Given the description of an element on the screen output the (x, y) to click on. 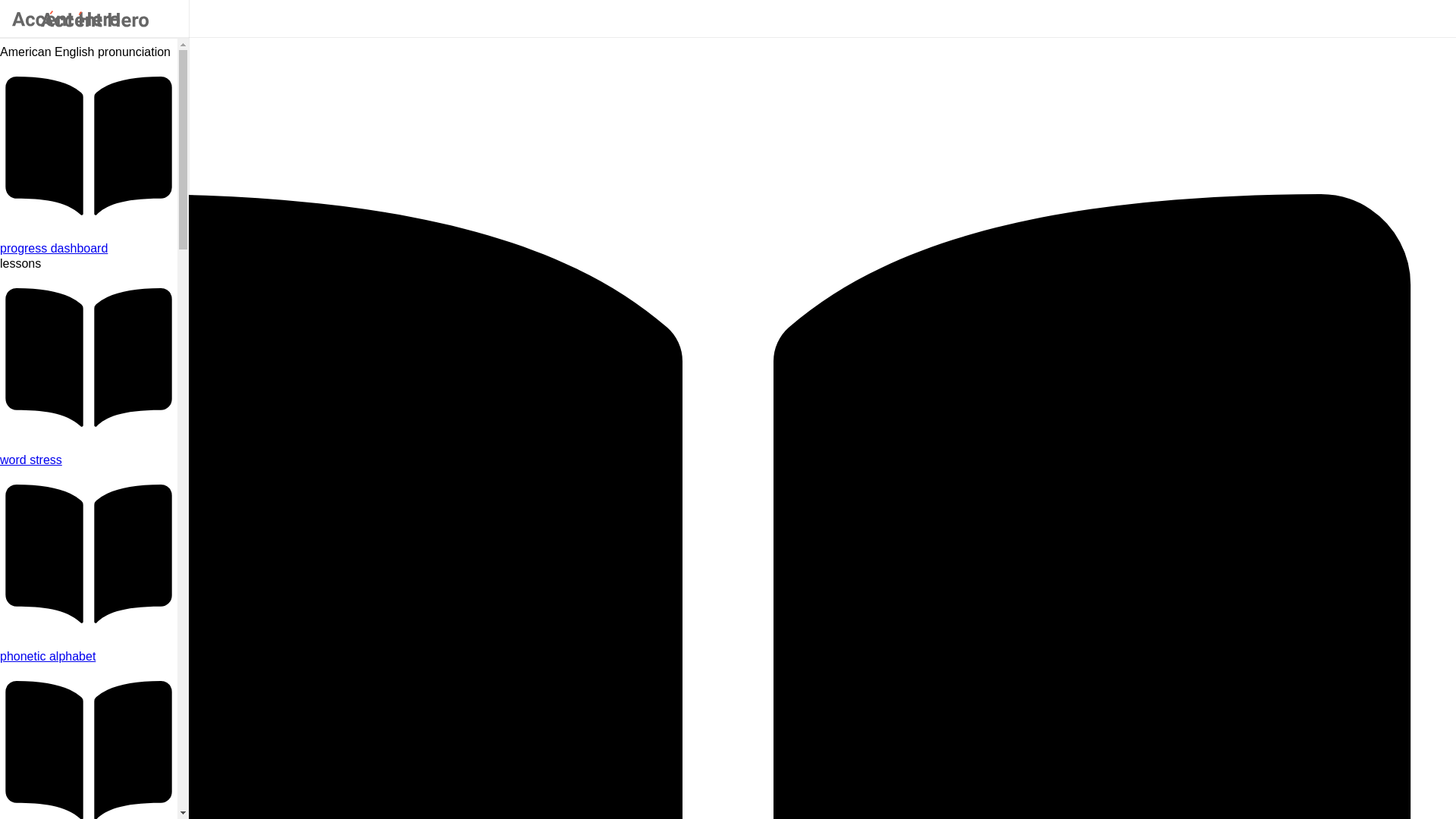
Learn how word stress influences your accent (88, 459)
Learn to precisely articulate each sound (88, 656)
